Given the description of an element on the screen output the (x, y) to click on. 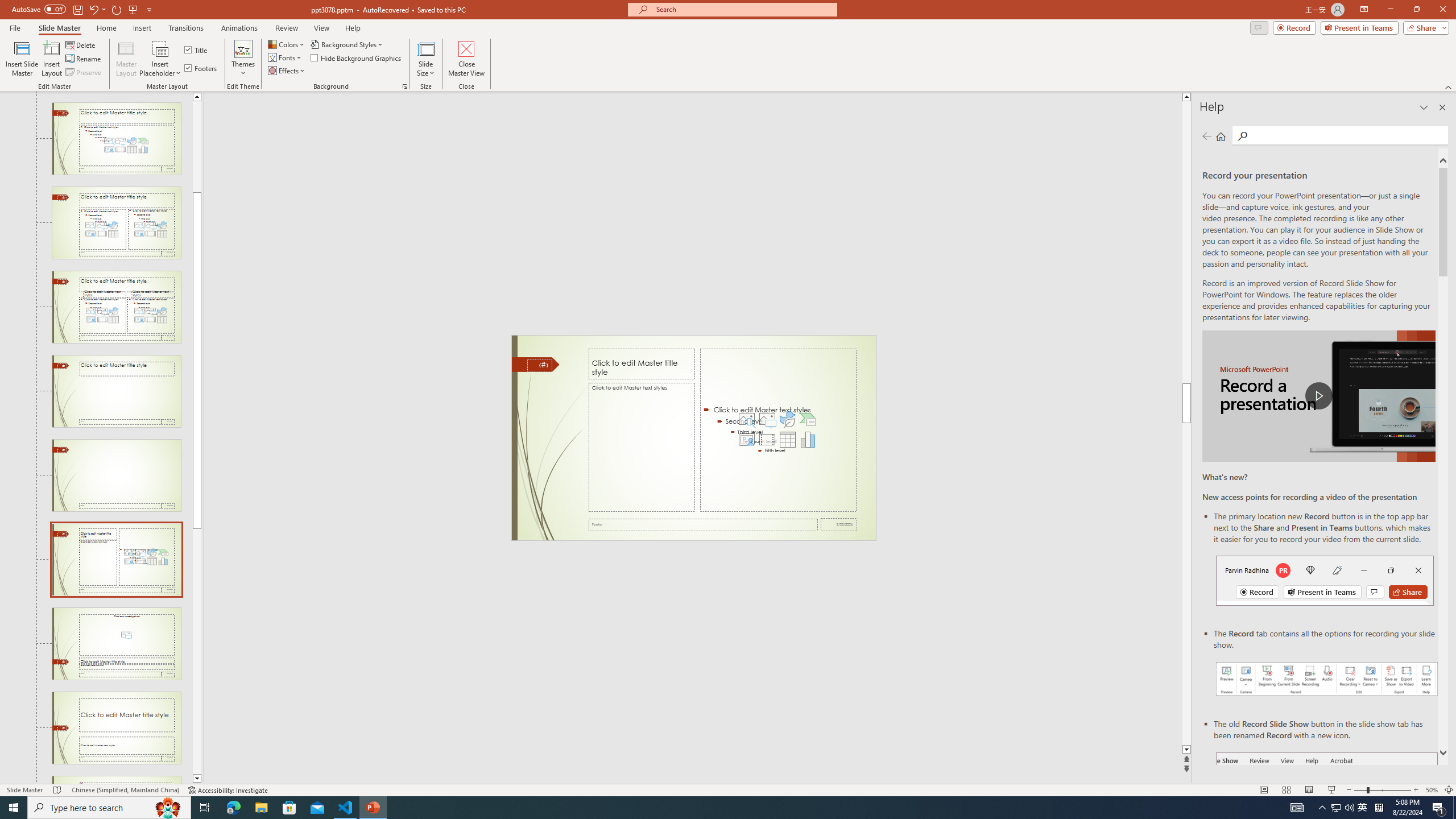
Themes (243, 58)
Slide Master (59, 28)
Slide Number (539, 364)
Page up (197, 146)
Footer (703, 524)
Master Layout... (126, 58)
Record your presentations screenshot one (1326, 678)
